Given the description of an element on the screen output the (x, y) to click on. 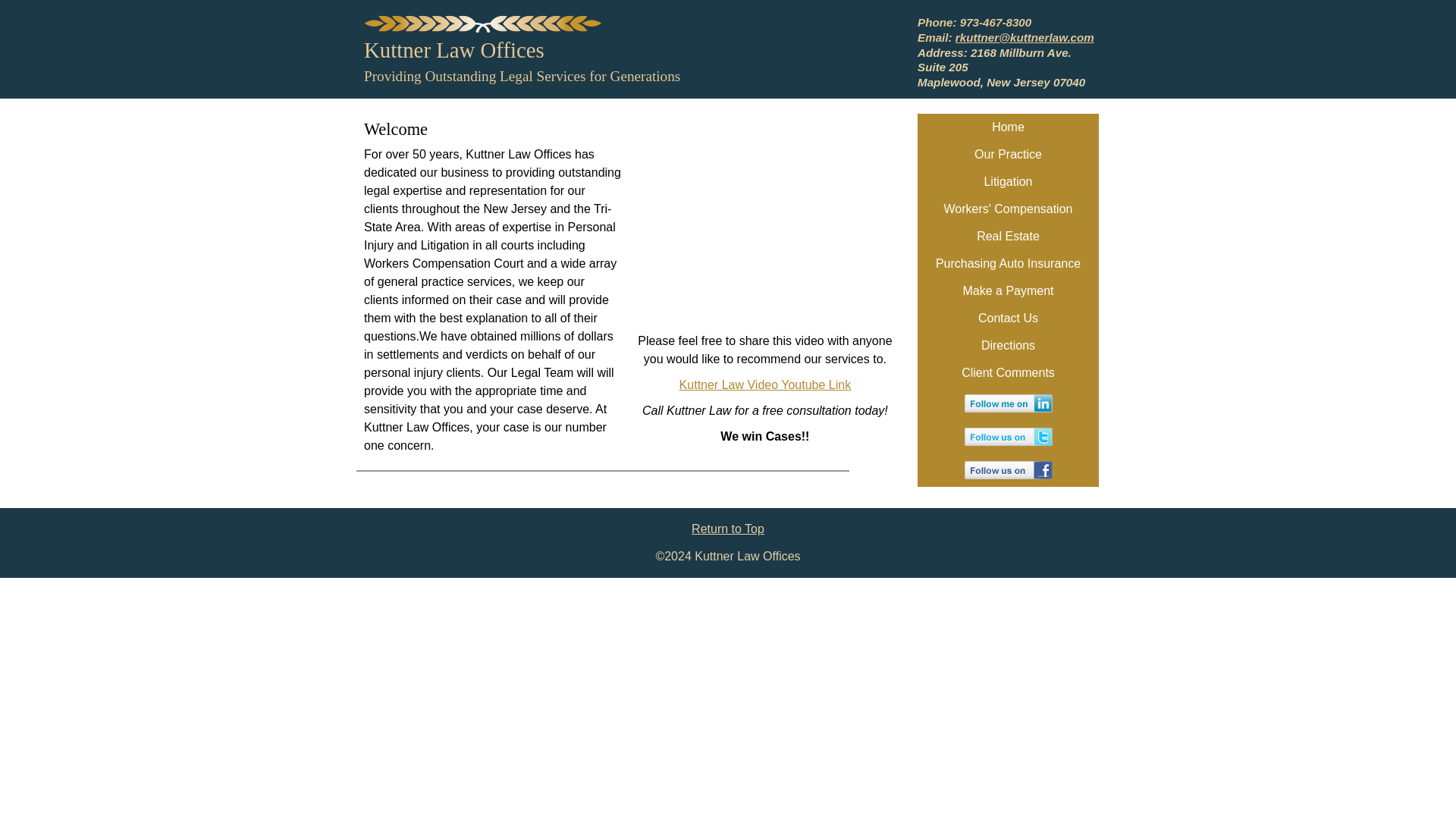
Workers' Compensation (973, 29)
Contact Us (1008, 208)
Home (1008, 318)
Make a Payment (1008, 126)
Return to Top (1008, 290)
Real Estate (727, 528)
Kuttner Law Video Youtube Link (1008, 236)
Directions (765, 384)
Providing Outstanding Legal Services for Generations (1008, 345)
Kuttner Law Offices (727, 83)
Client Comments (454, 49)
Our Practice (1008, 372)
Litigation (1008, 154)
Purchasing Auto Insurance (1008, 181)
